Given the description of an element on the screen output the (x, y) to click on. 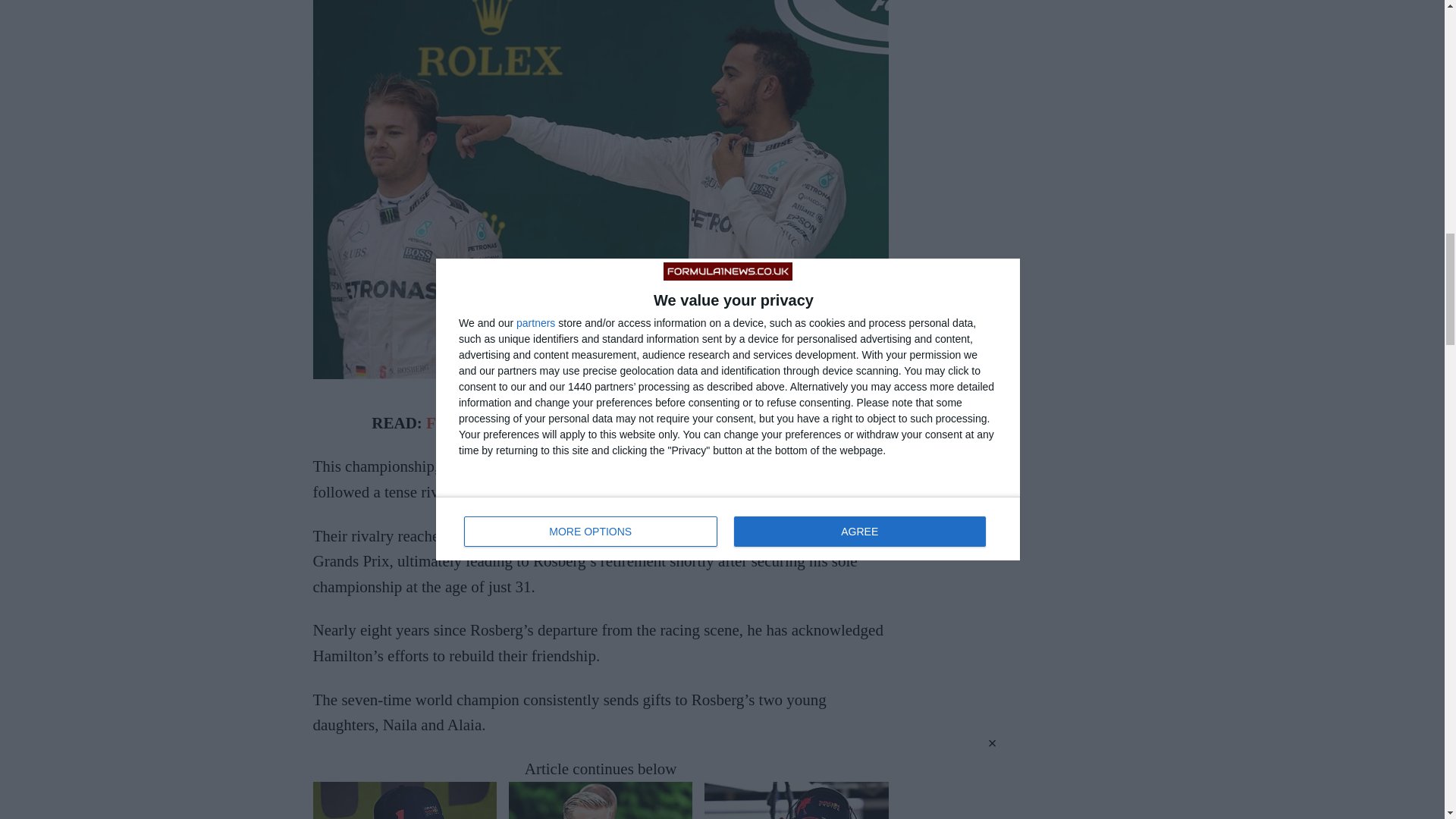
Fernando Alonso moves closer to replacing Lewis Hamilton (627, 423)
